Given the description of an element on the screen output the (x, y) to click on. 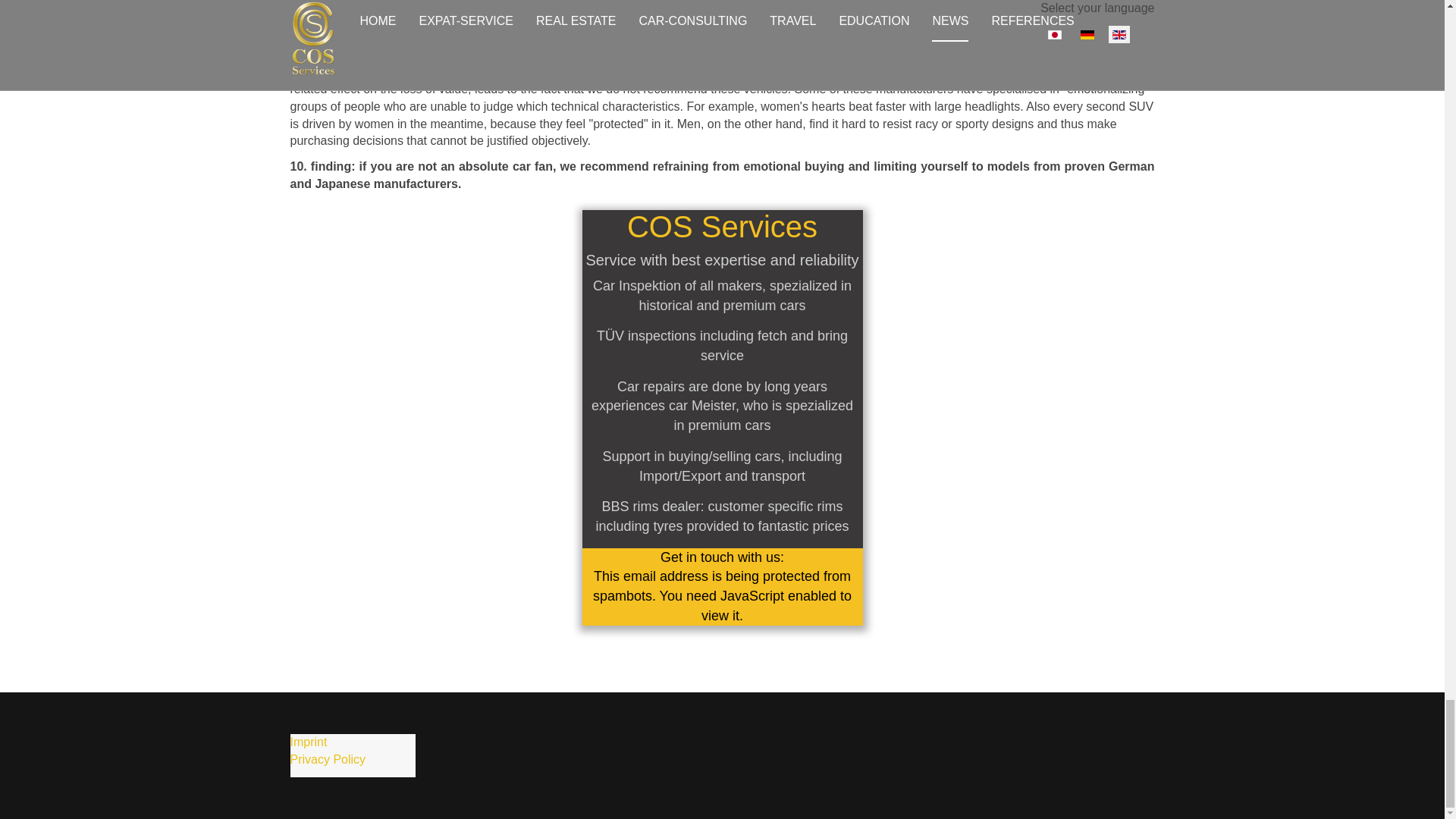
Privacy Policy (327, 758)
Imprint (307, 741)
Privacy Policy (327, 758)
Imprint (307, 741)
